Given the description of an element on the screen output the (x, y) to click on. 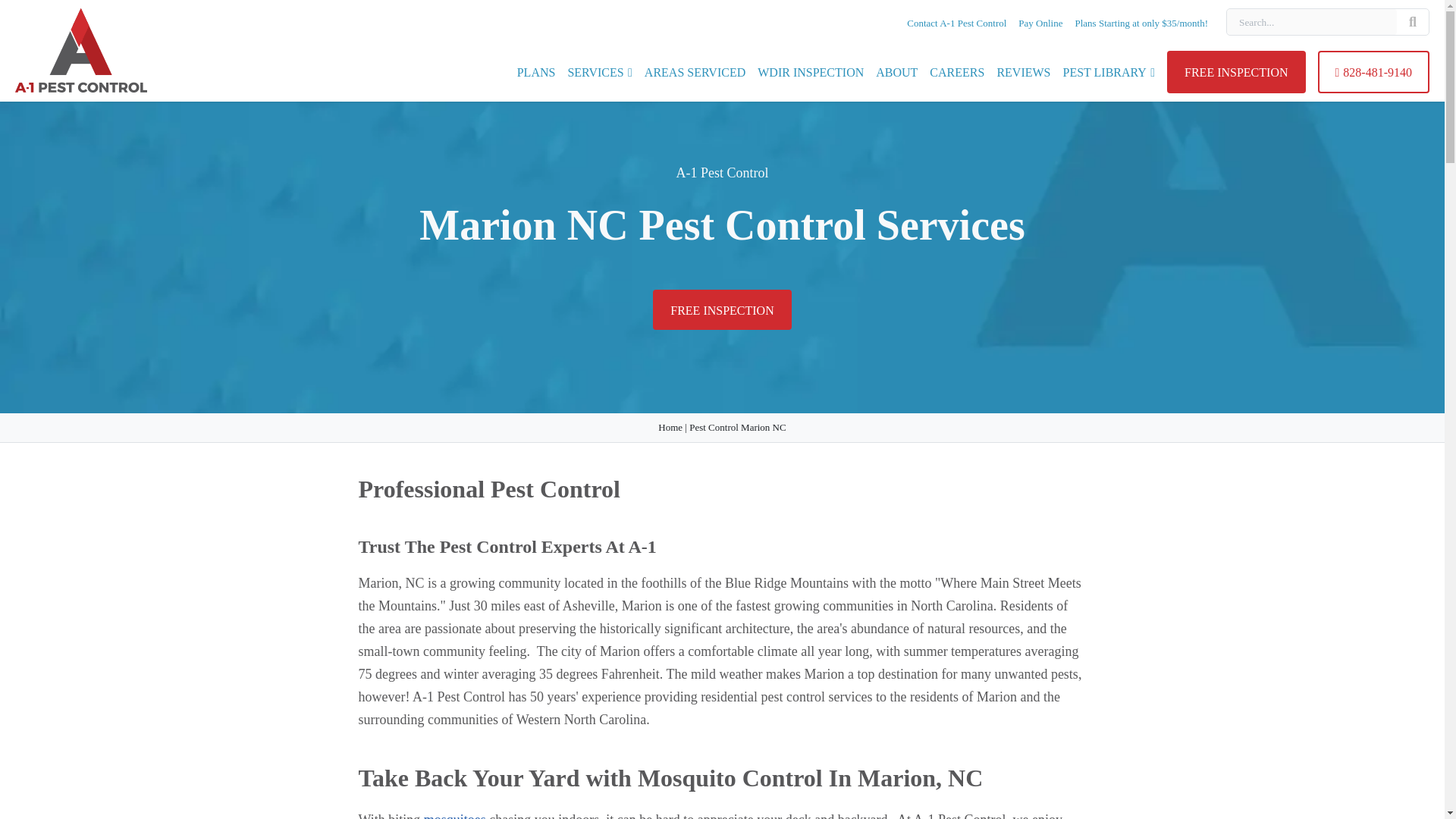
CAREERS (957, 72)
PEST LIBRARY (1108, 72)
FREE INSPECTION (1235, 72)
REVIEWS (1022, 72)
AREAS SERVICED (695, 72)
PLANS (536, 72)
SERVICES (599, 72)
WDIR INSPECTION (810, 72)
ABOUT (896, 72)
